Given the description of an element on the screen output the (x, y) to click on. 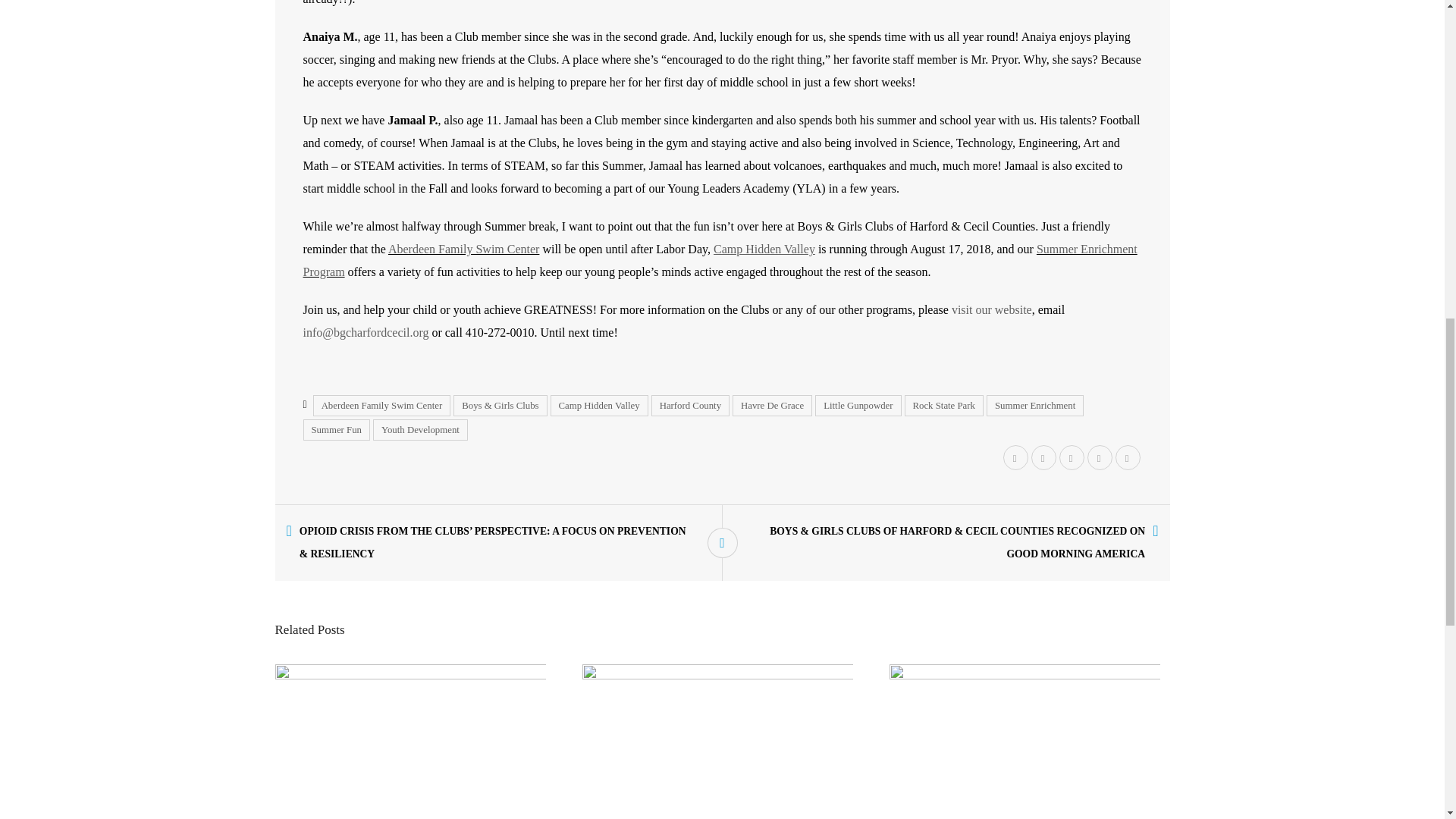
Camp Hidden Valley (764, 248)
visit our website (992, 309)
Summer Enrichment Program (719, 260)
Aberdeen Family Swim Center (382, 405)
Share on Pinterest (1071, 458)
View All (721, 542)
Aberdeen Family Swim Center (464, 248)
Share on Tumblr (1128, 458)
Share on Facebook (1042, 458)
Share on LinkedIn (1098, 458)
